Given the description of an element on the screen output the (x, y) to click on. 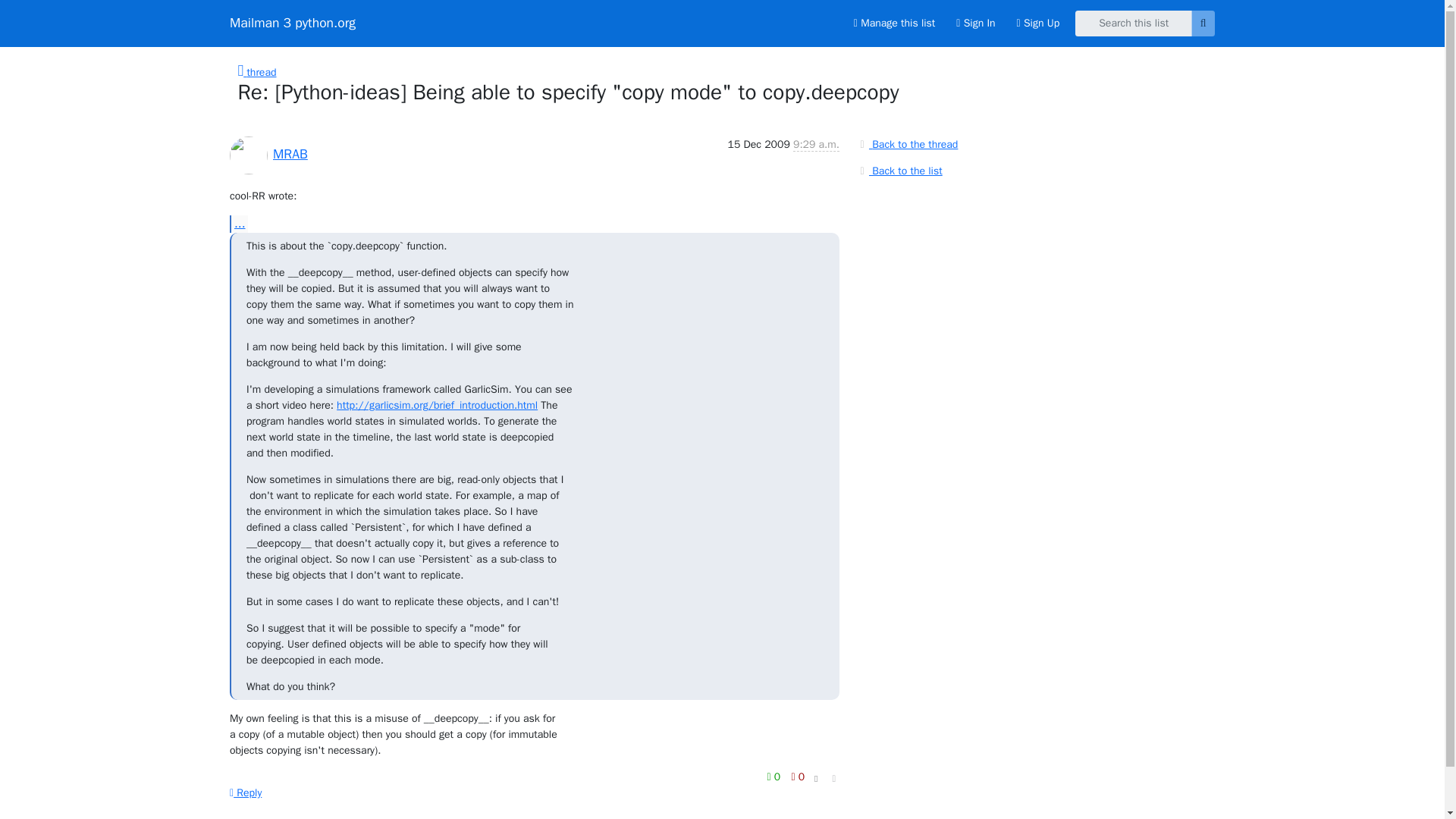
Sign Up (1038, 22)
You must be logged-in to vote. (774, 776)
You must be logged-in to vote. (797, 776)
Display in fixed font (816, 779)
MRAB (290, 153)
Reply (246, 792)
Sign In (975, 22)
Back to the list (899, 169)
Permalink for this message (834, 778)
Manage this list (893, 22)
Back to the thread (907, 144)
Reply (246, 792)
Sender's time: Dec. 15, 2009, 3:29 p.m. (816, 144)
0 (797, 776)
Mailman 3 python.org (292, 23)
